Given the description of an element on the screen output the (x, y) to click on. 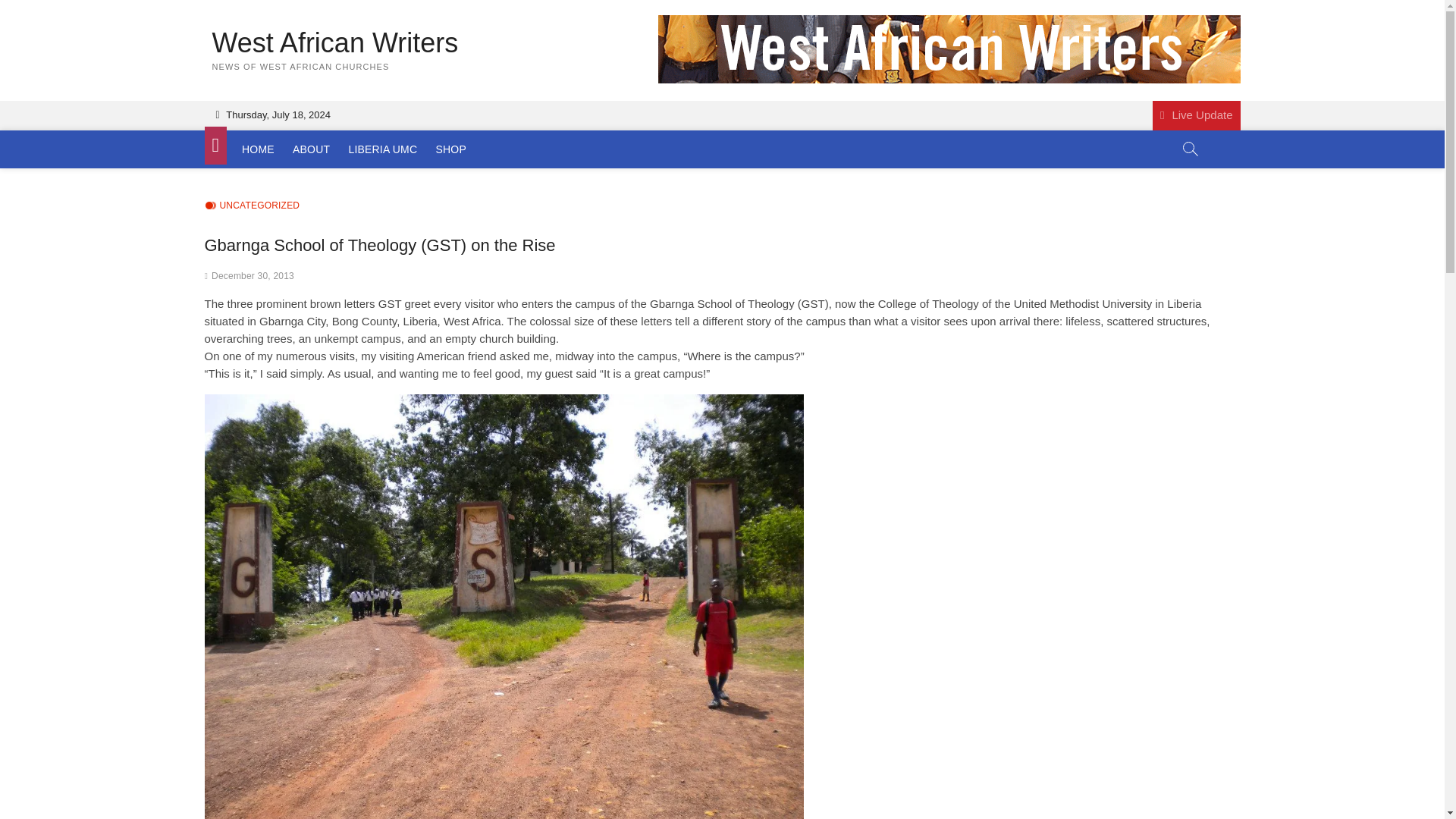
December 30, 2013 (252, 276)
ABOUT (311, 149)
HOME (258, 149)
LIBERIA UMC (382, 149)
Live Update (1196, 115)
December 30, 2013 (252, 276)
West African Writers (335, 42)
UNCATEGORIZED (252, 205)
SHOP (450, 149)
West African Writers (335, 42)
